Given the description of an element on the screen output the (x, y) to click on. 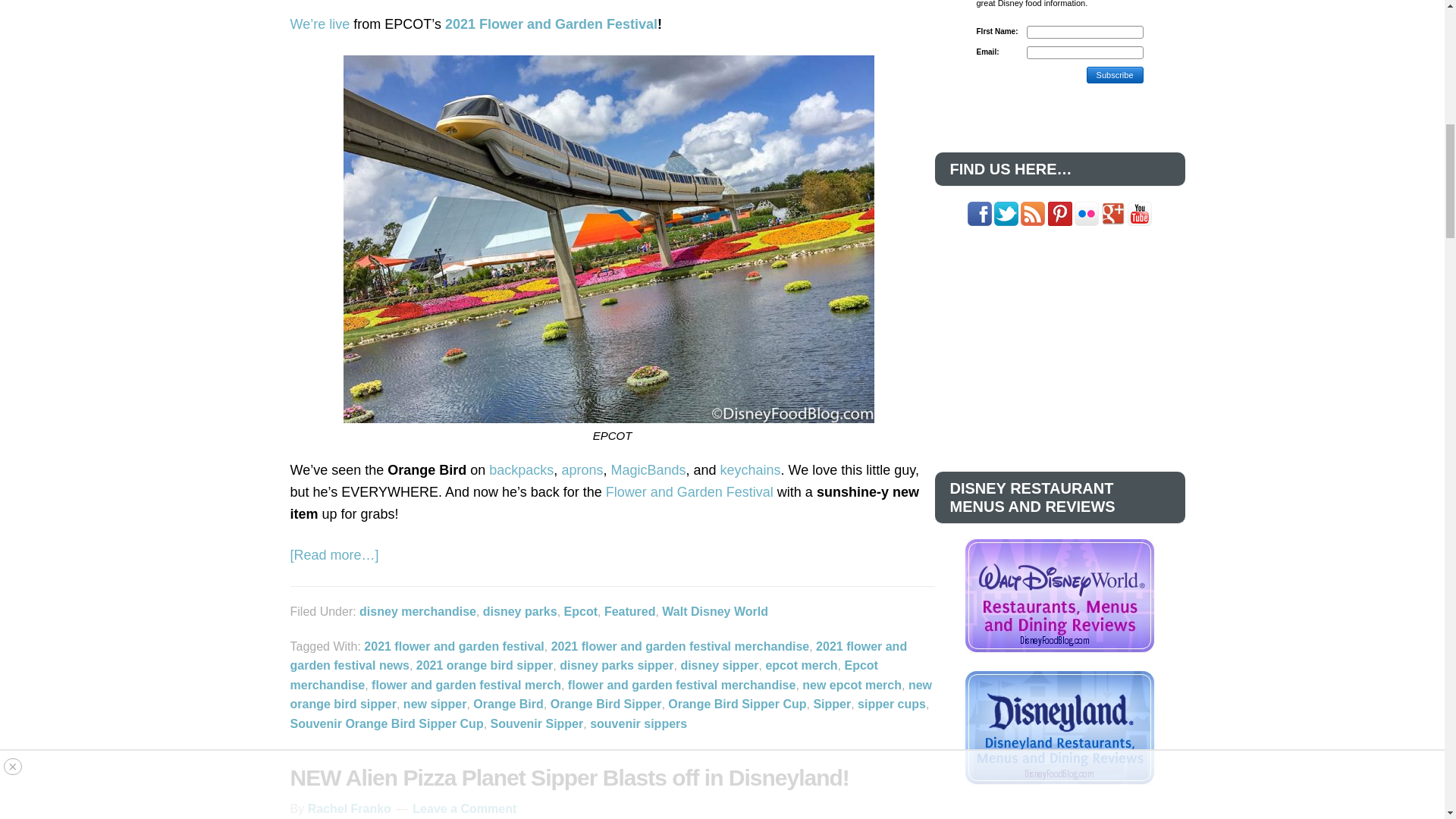
Subscribe (1114, 74)
